Given the description of an element on the screen output the (x, y) to click on. 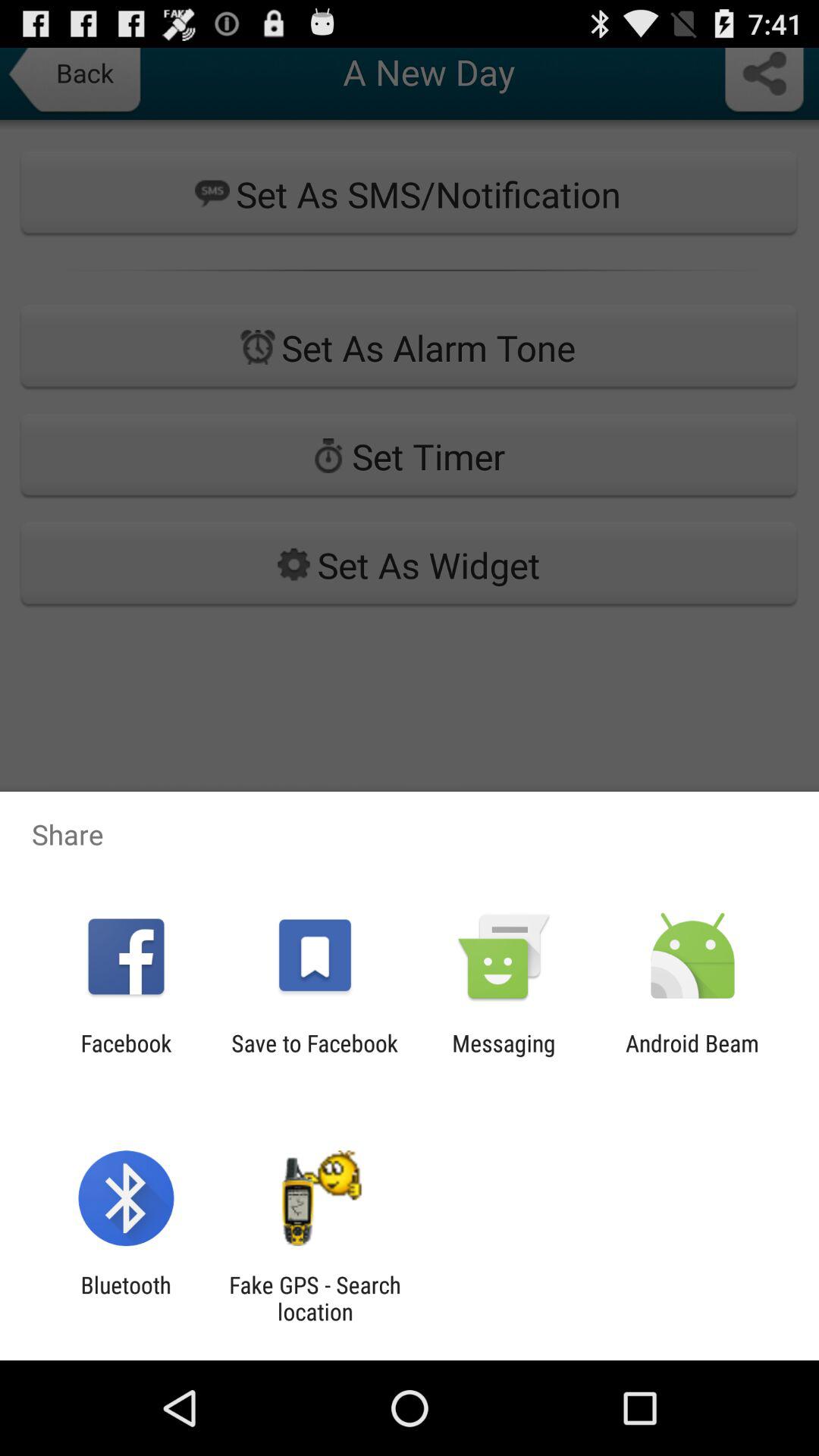
select the item to the right of the save to facebook icon (503, 1056)
